Given the description of an element on the screen output the (x, y) to click on. 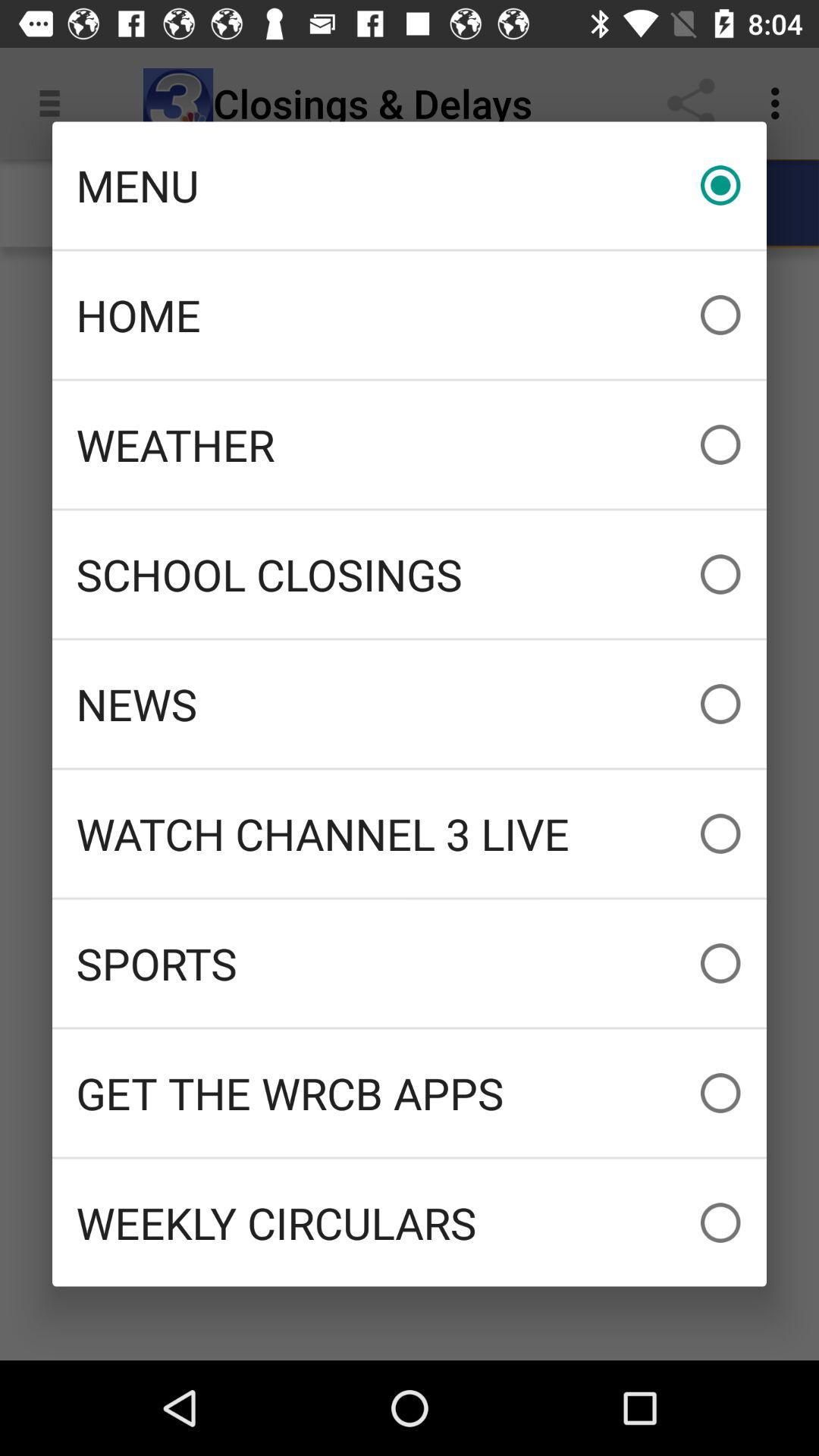
flip until the weekly circulars icon (409, 1222)
